Given the description of an element on the screen output the (x, y) to click on. 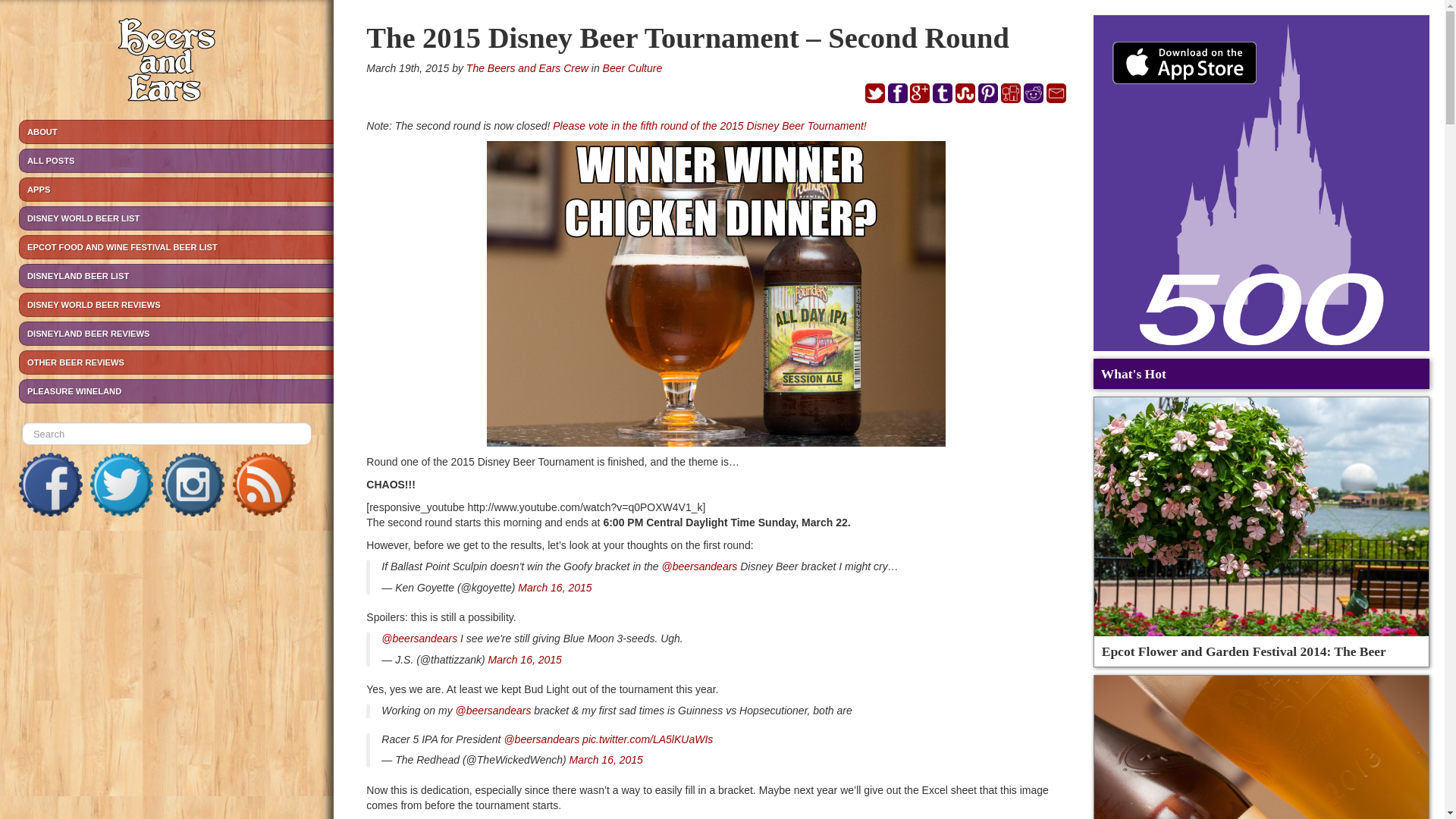
Beers and Ears (166, 62)
Disney World Beer Reviews (175, 304)
Share on Facebook (897, 92)
DISNEYLAND BEER LIST (175, 275)
OTHER BEER REVIEWS (175, 362)
Share on Twitter (874, 92)
ALL POSTS (175, 160)
DISNEY WORLD BEER LIST (175, 218)
About (175, 131)
Epcot Food and Wine Festival Beer List (175, 247)
